Given the description of an element on the screen output the (x, y) to click on. 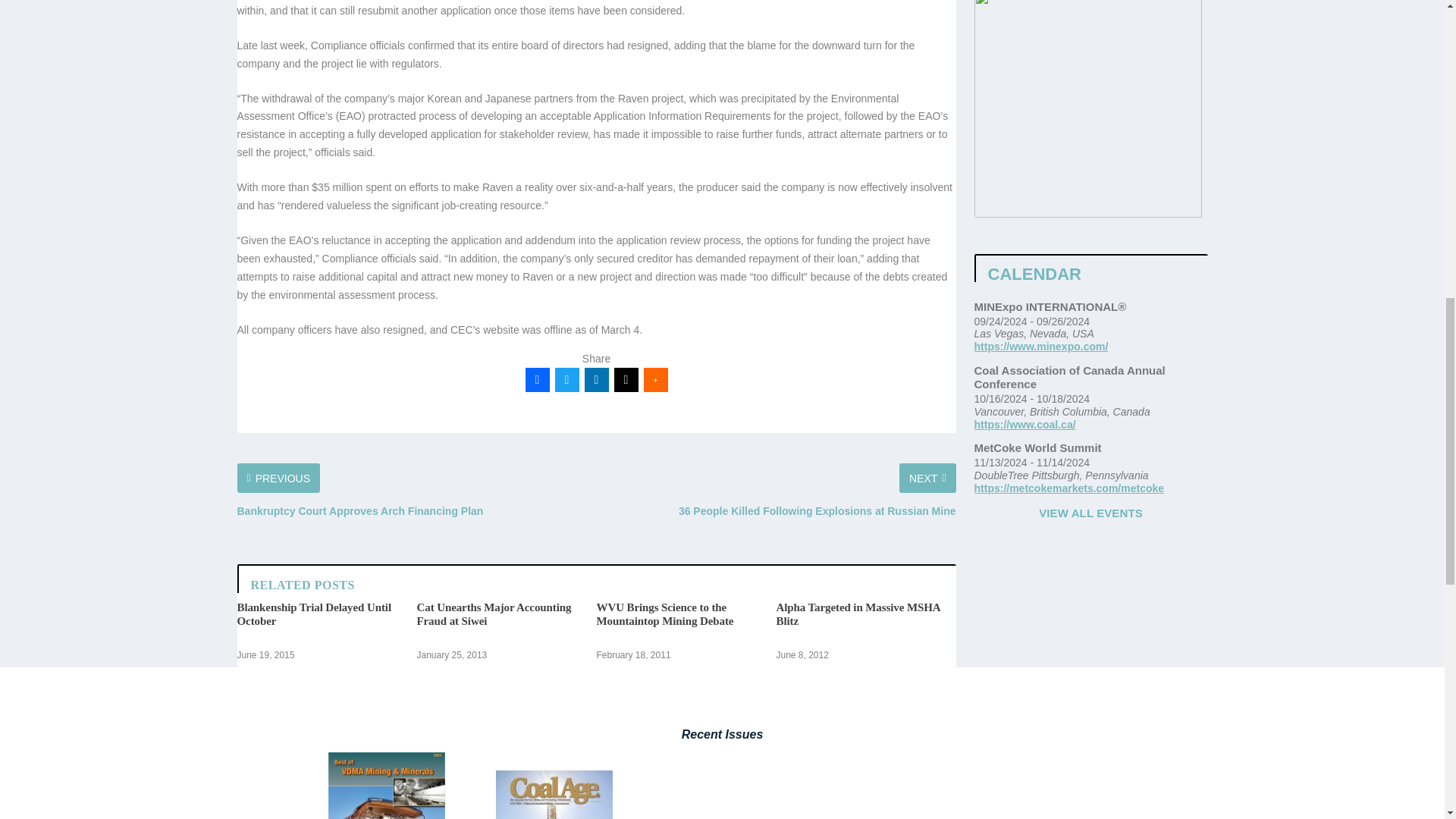
Search (1002, 2)
Production Resumes at Warrior Mine (312, 809)
Email this  (626, 579)
Tweet this ! (566, 579)
Share this on Facebook (536, 579)
CONSOL Energy Will Restart Idled Longwalls in May (863, 809)
Alliance Battles to Keep Share of the Market (495, 809)
Warrior Met Reports Record Coal Sales (678, 809)
More share links (654, 579)
Add this to LinkedIn (595, 579)
Search (1002, 2)
